Given the description of an element on the screen output the (x, y) to click on. 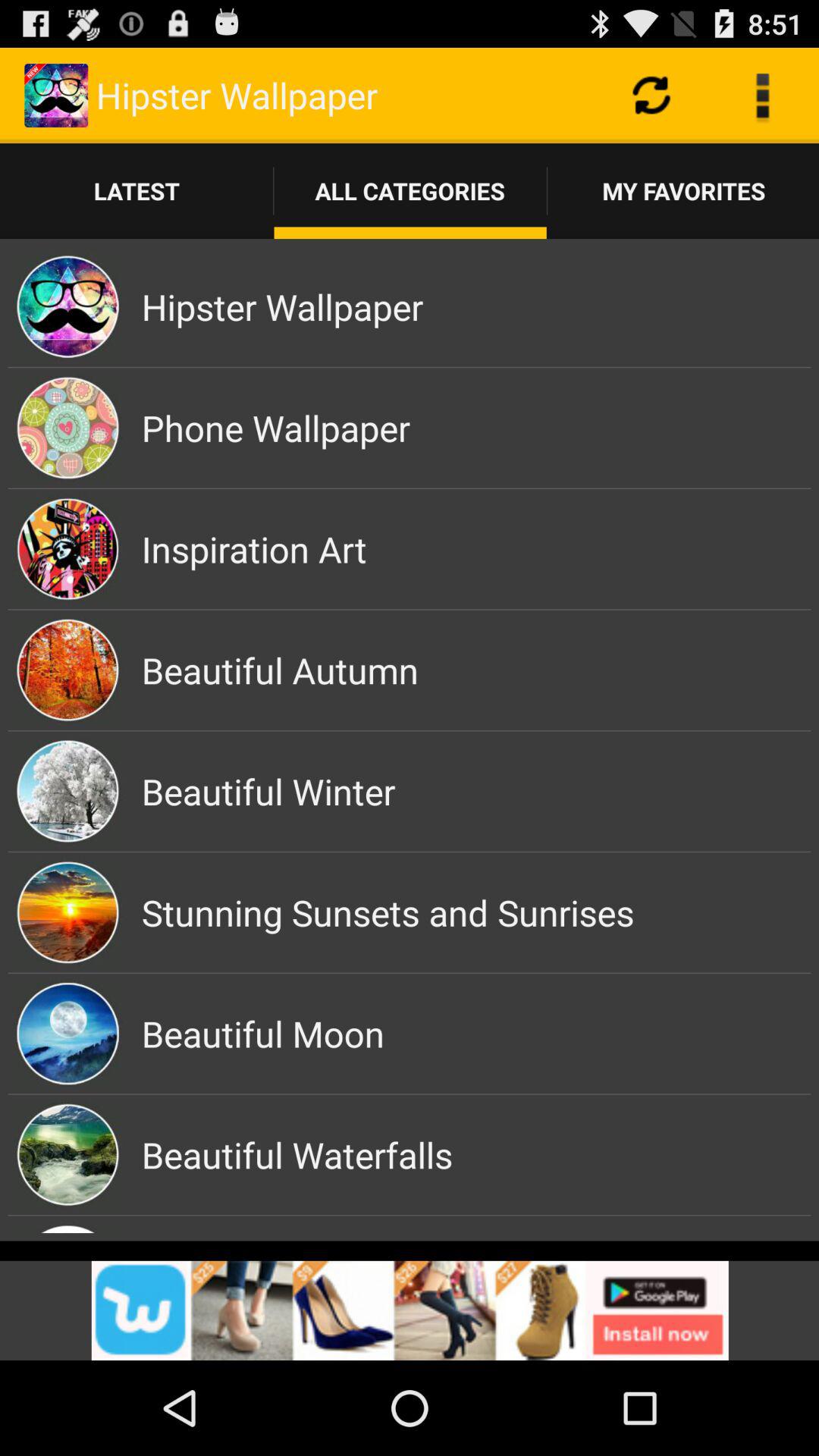
select the button which is next to the latest (410, 190)
click on the second image from the top (68, 427)
click on the button between latest and my favorites (410, 190)
select the image which is left side of the beautiful waterfalls (68, 1154)
select the image which is left side of the phone wallpaper (68, 427)
